Given the description of an element on the screen output the (x, y) to click on. 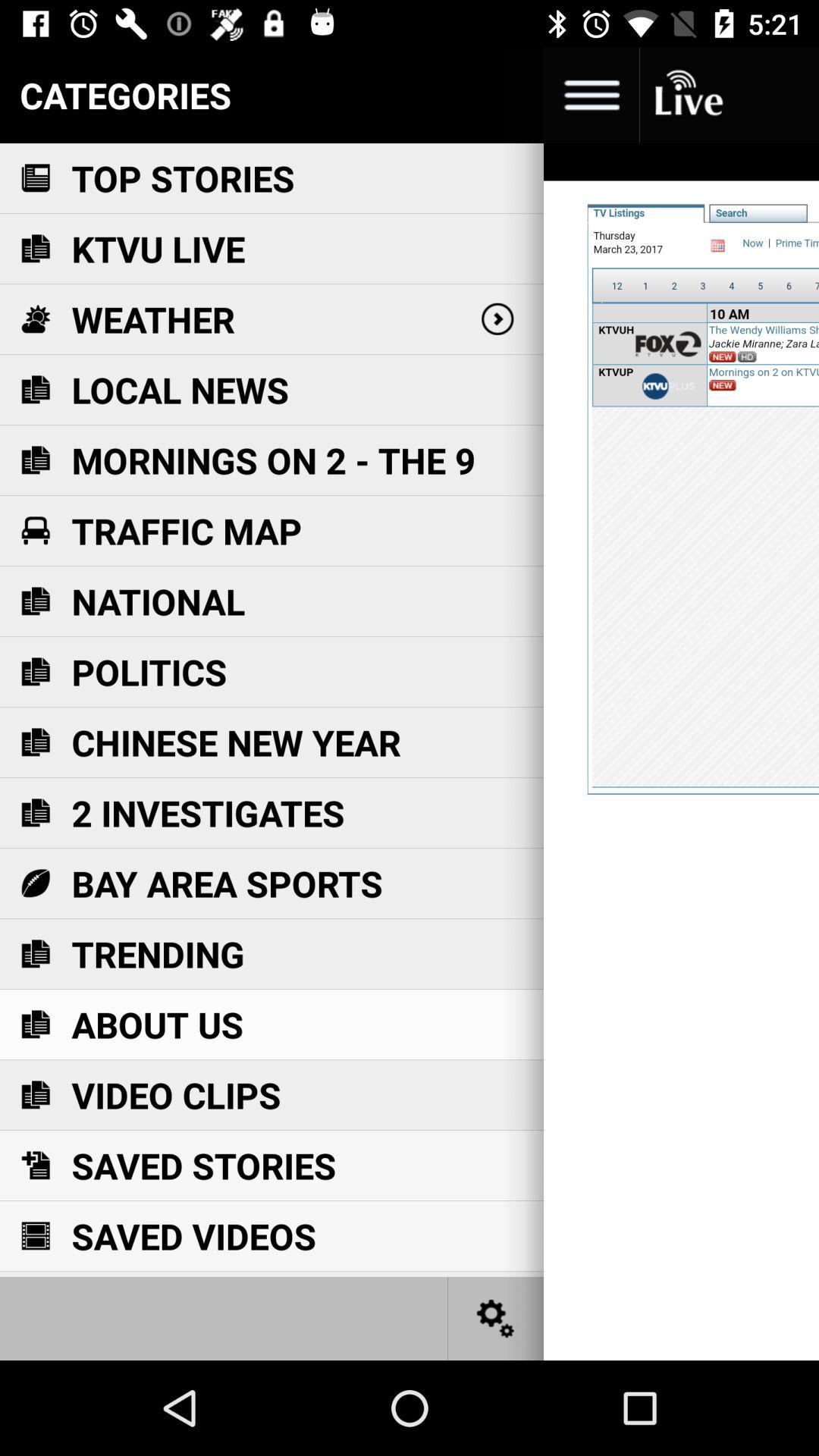
menu button (591, 95)
